Given the description of an element on the screen output the (x, y) to click on. 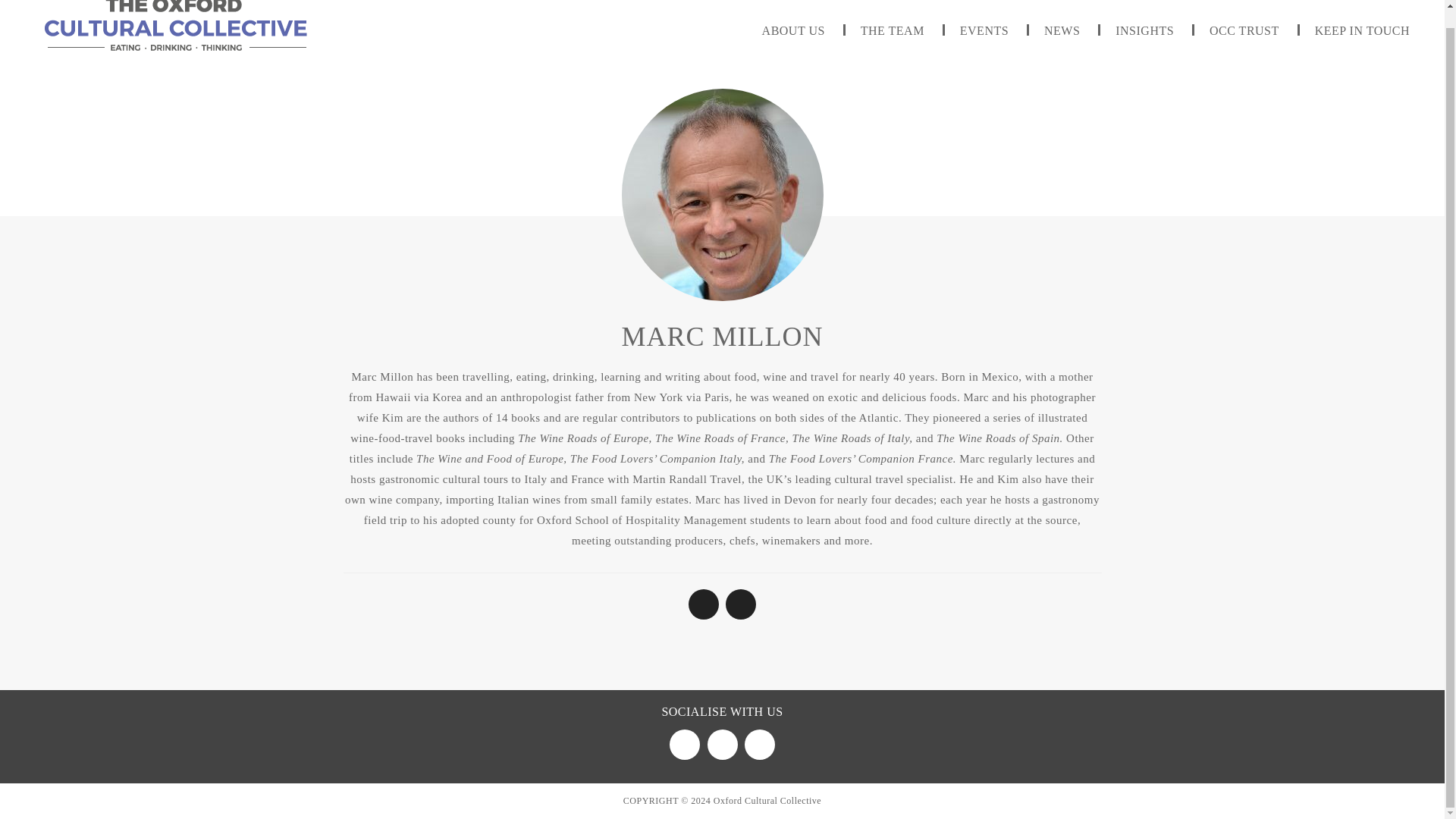
INSIGHTS (1144, 30)
THE TEAM (892, 30)
EVENTS (984, 30)
OCC TRUST (1244, 30)
ABOUT US (793, 30)
NEWS (1061, 30)
KEEP IN TOUCH (1361, 30)
